Given the description of an element on the screen output the (x, y) to click on. 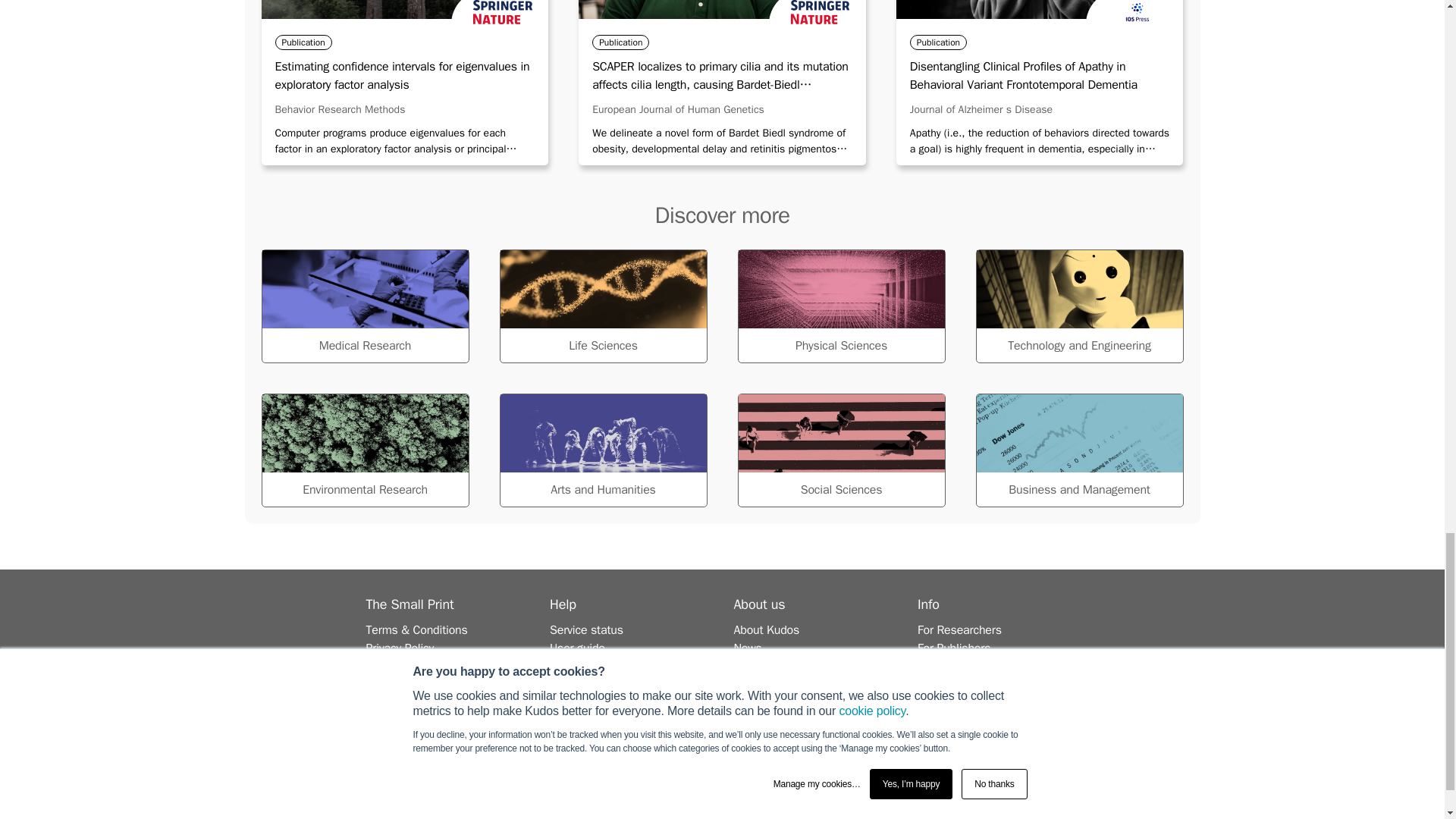
Business and Management (1078, 449)
Medical Research (364, 306)
User guide (577, 648)
Contact us (577, 684)
Logo Usage (395, 666)
Physical Sciences (840, 306)
European Journal of Human Genetics (678, 109)
Environmental Research (364, 449)
Social Sciences (840, 449)
Privacy Policy (399, 648)
Service status (586, 630)
